Given the description of an element on the screen output the (x, y) to click on. 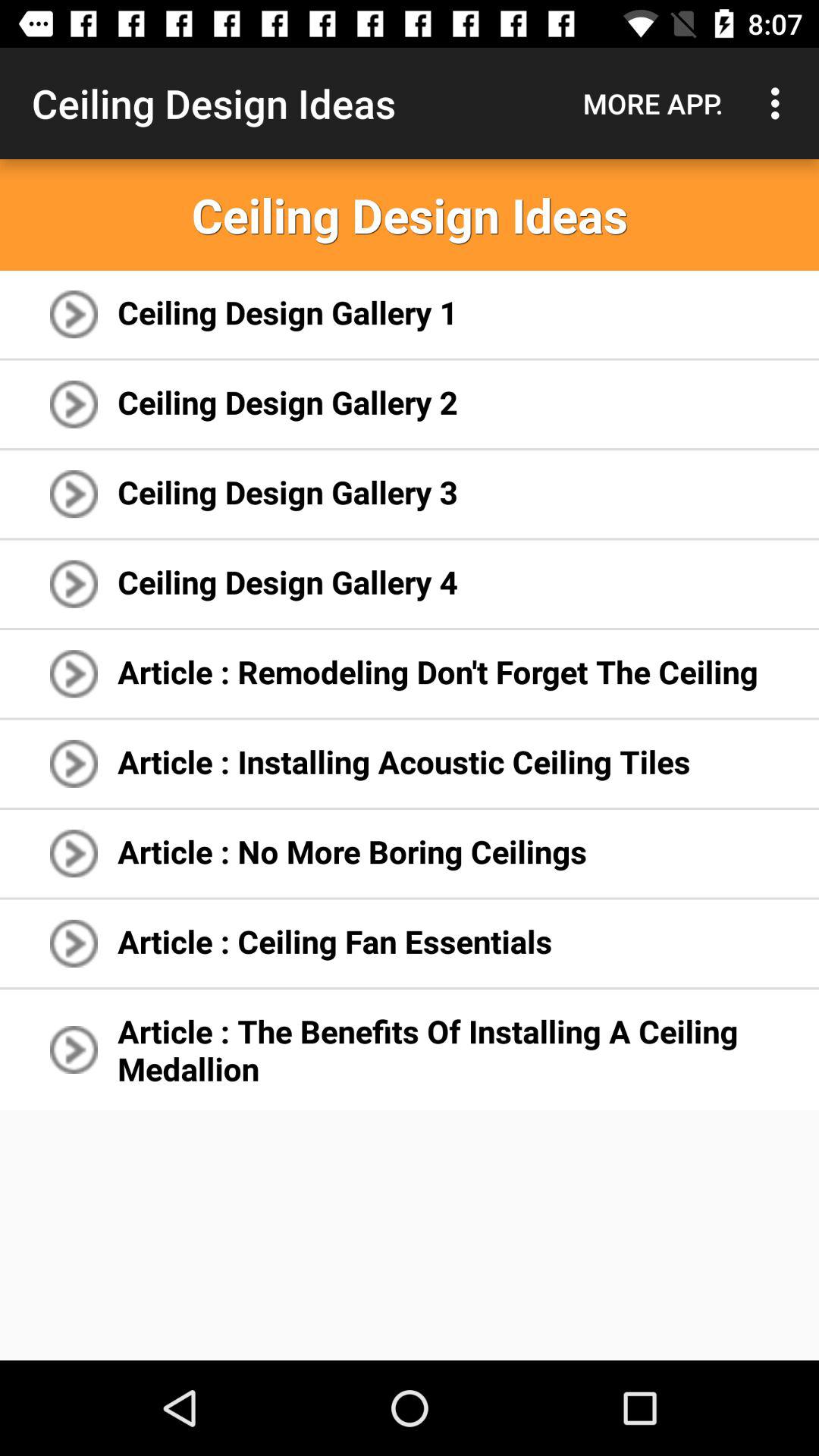
turn off the icon to the right of ceiling design ideas icon (653, 103)
